Given the description of an element on the screen output the (x, y) to click on. 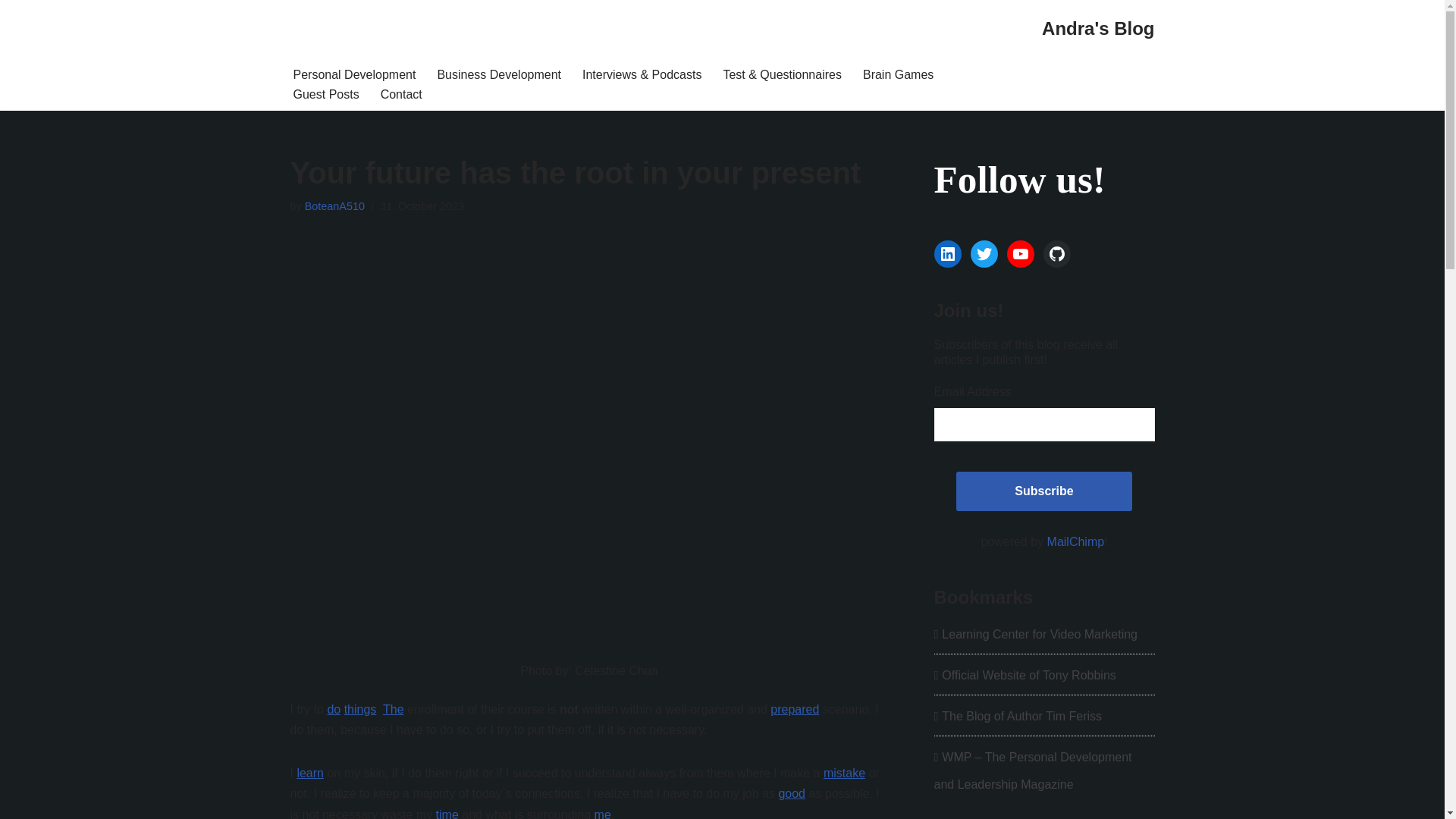
Skip to content (11, 31)
do (333, 708)
Personal Development (353, 74)
prepared (794, 708)
Business Development (498, 74)
time (446, 813)
Contact (401, 94)
Andra's Blog (1098, 29)
things (360, 708)
me (602, 813)
